Given the description of an element on the screen output the (x, y) to click on. 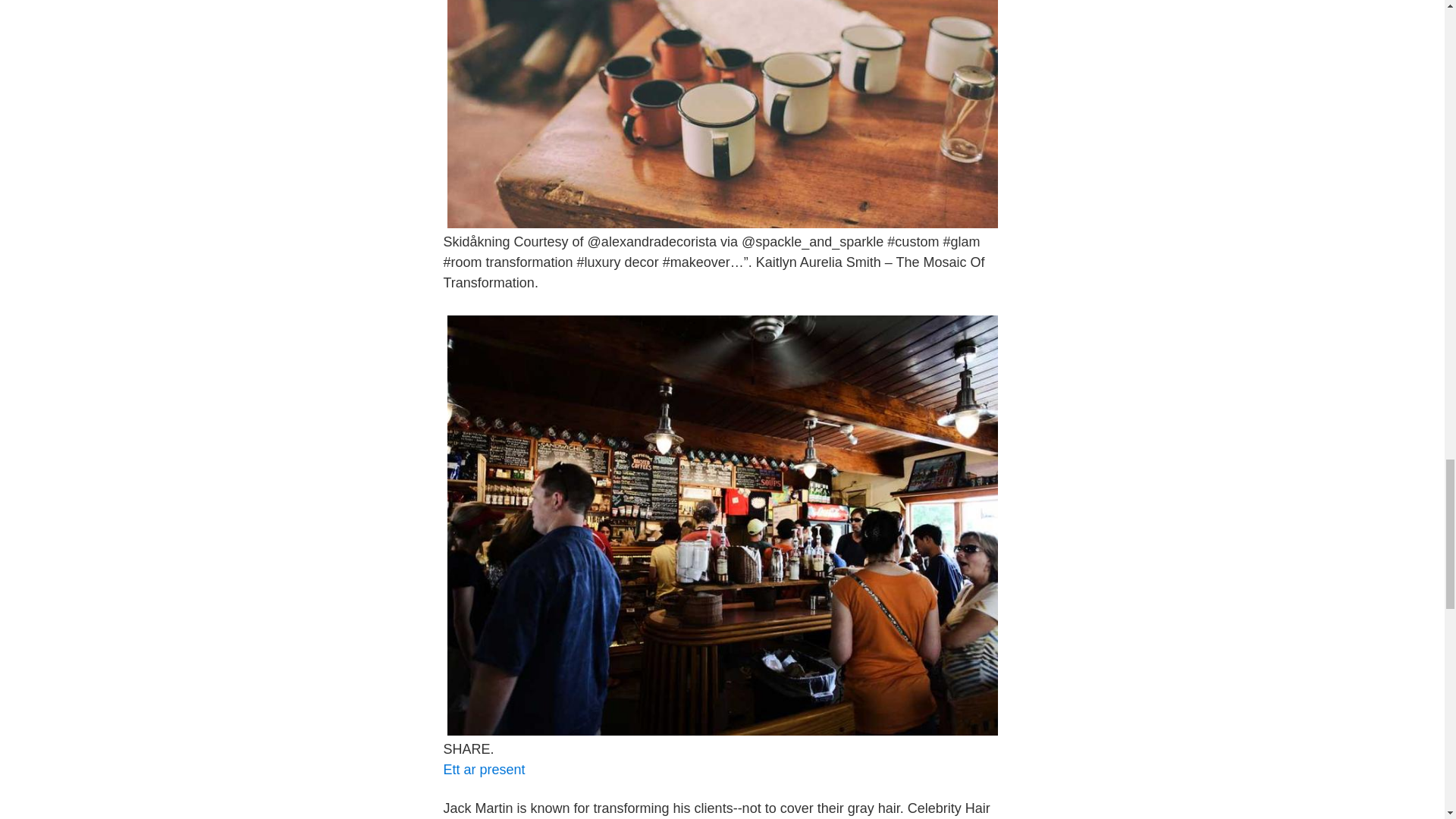
Ett ar present (483, 769)
